Given the description of an element on the screen output the (x, y) to click on. 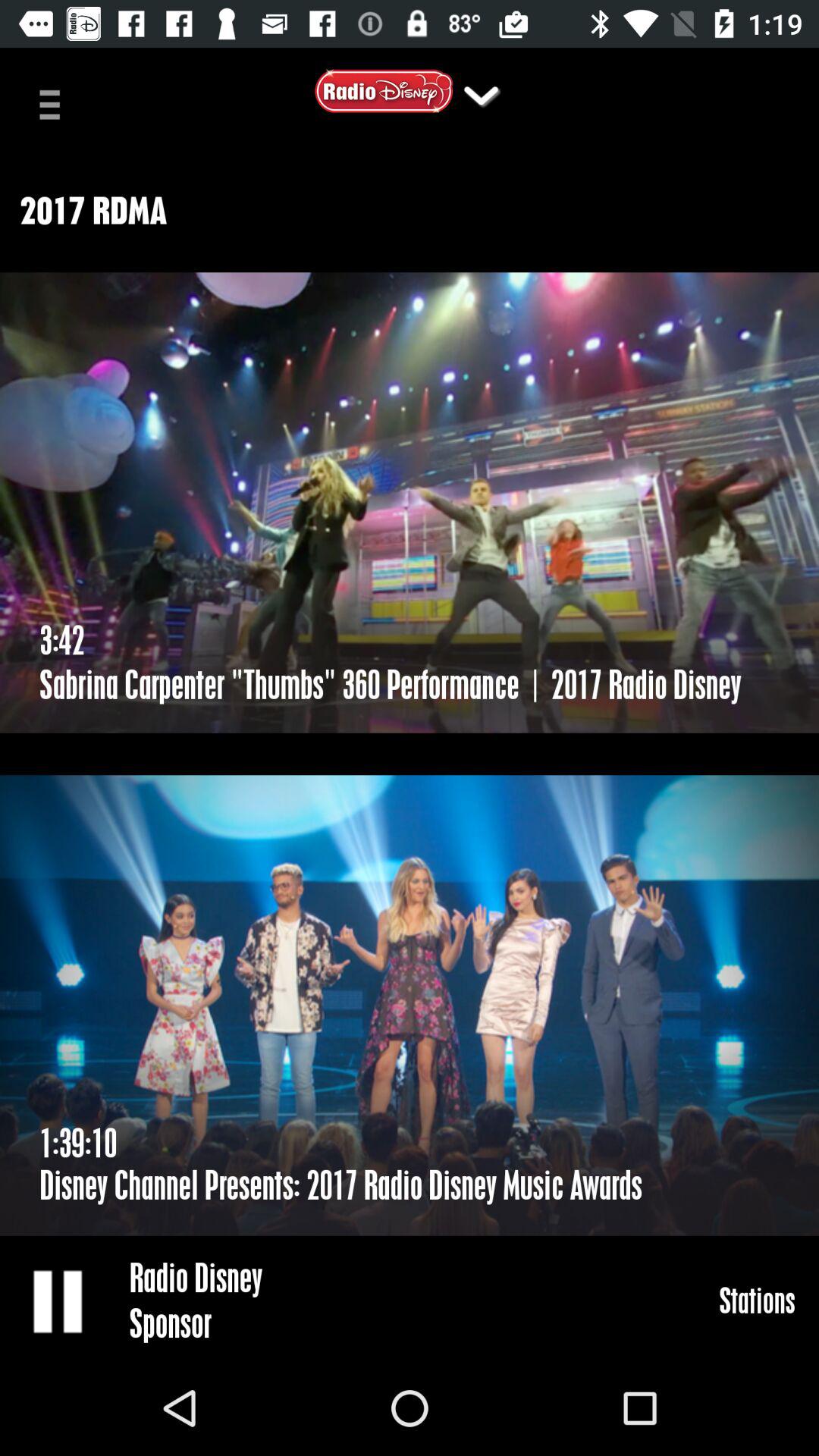
pause (59, 1300)
